Given the description of an element on the screen output the (x, y) to click on. 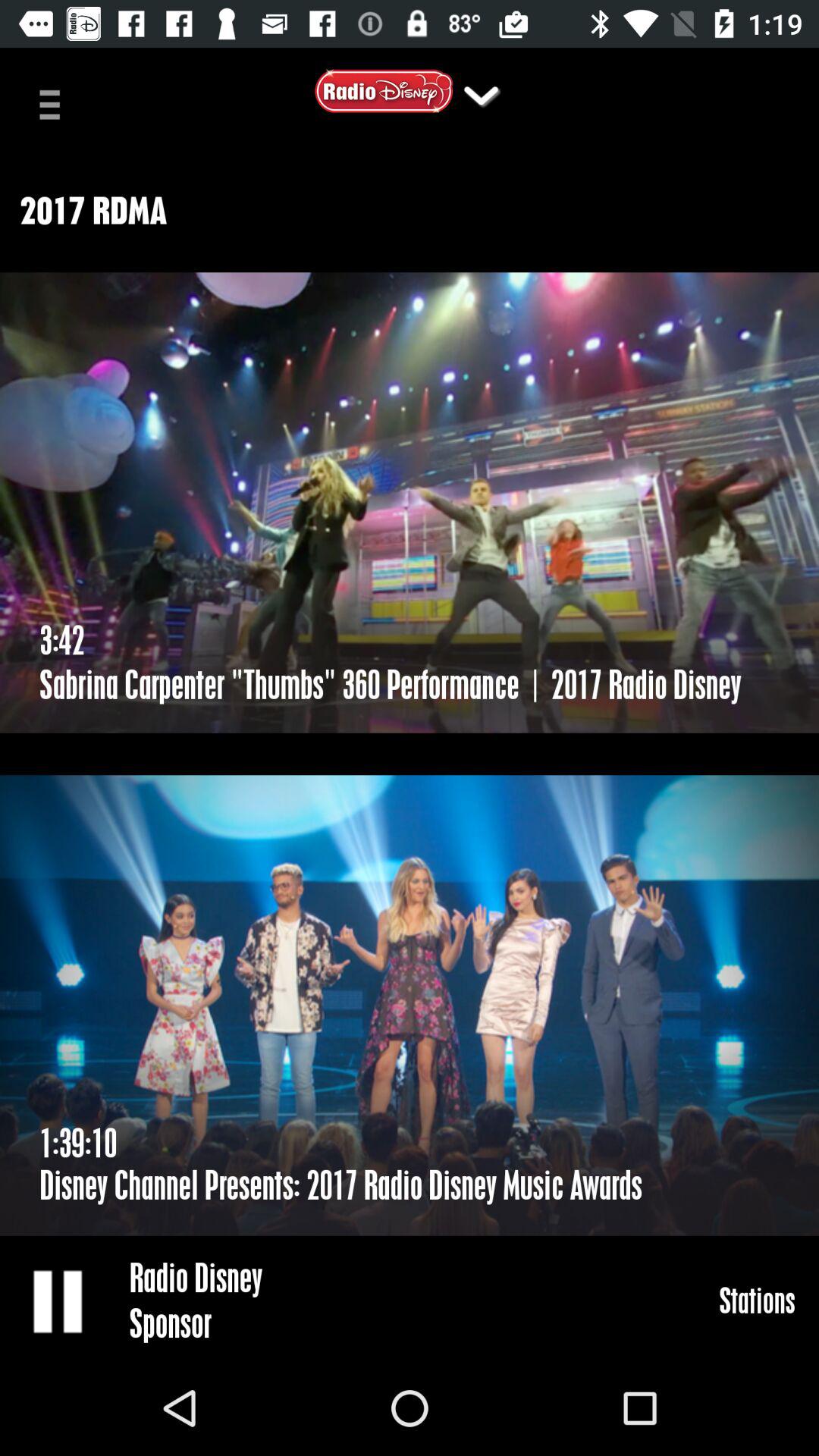
pause (59, 1300)
